Given the description of an element on the screen output the (x, y) to click on. 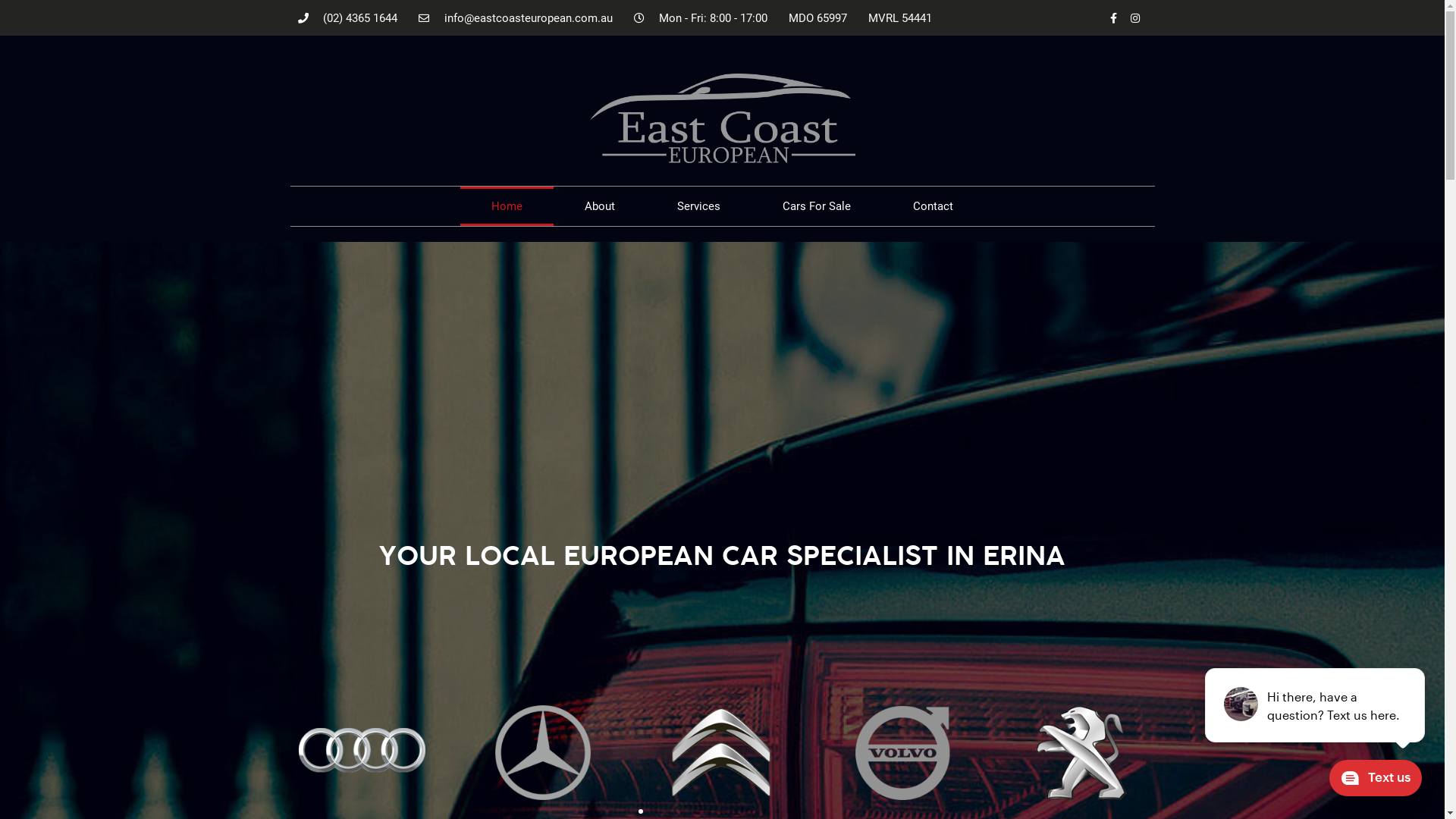
podium webchat widget prompt Element type: hover (1315, 705)
Cars For Sale Element type: text (816, 205)
Instagram Element type: text (1134, 17)
Facebook-f Element type: text (1113, 17)
MVRL 54441 Element type: text (899, 18)
Services Element type: text (698, 205)
Home Element type: text (506, 205)
Contact Element type: text (932, 205)
About Element type: text (599, 205)
MDO 65997 Element type: text (817, 18)
info@eastcoasteuropean.com.au Element type: text (515, 18)
